Given the description of an element on the screen output the (x, y) to click on. 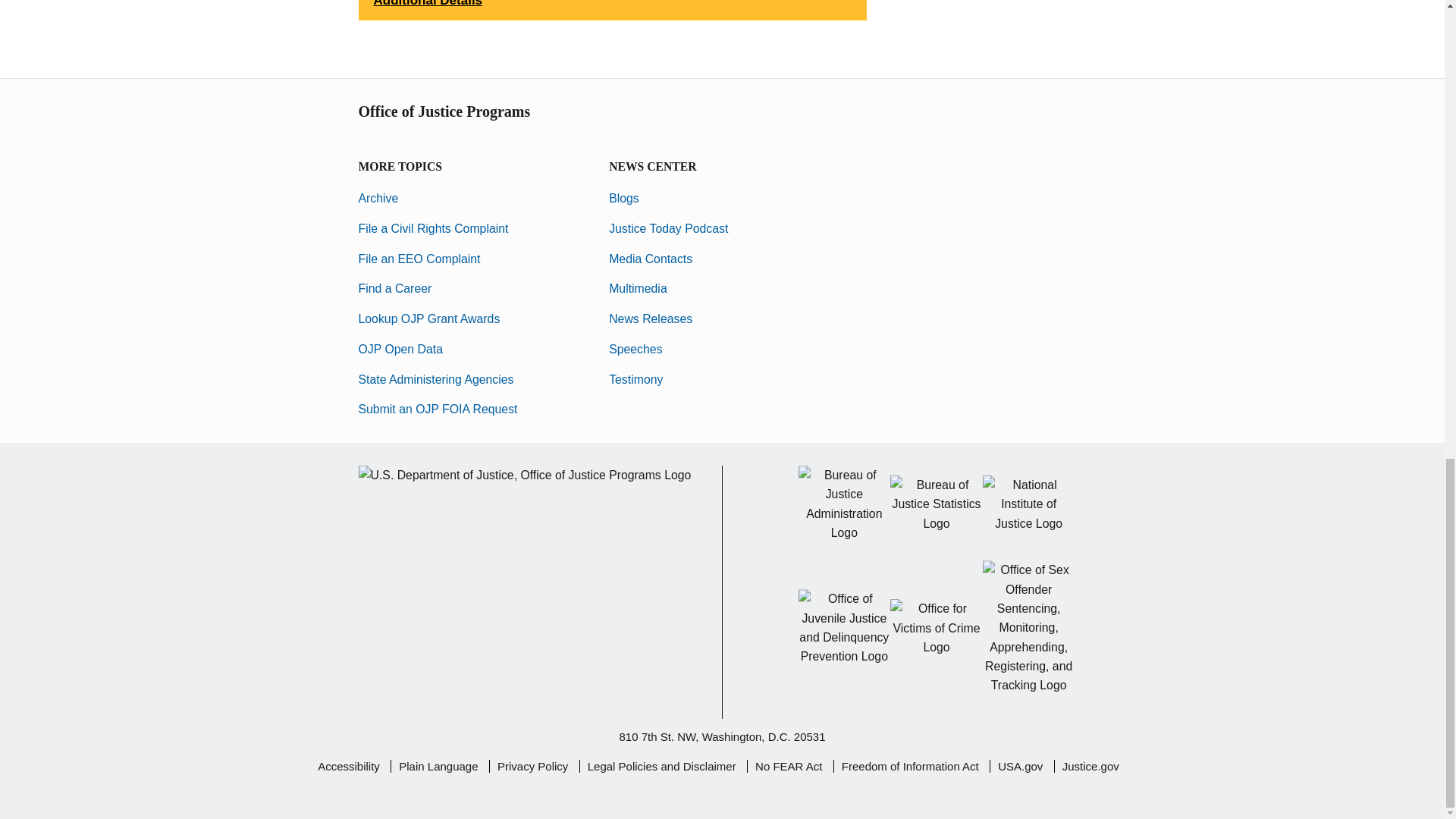
Lookup OJP Grant Awards (428, 318)
OJP Open Data (400, 349)
Additional Details (612, 10)
Find a Career (394, 287)
File a Civil Rights Complaint (433, 228)
File an EEO Complaint (419, 258)
Archive (377, 197)
